Given the description of an element on the screen output the (x, y) to click on. 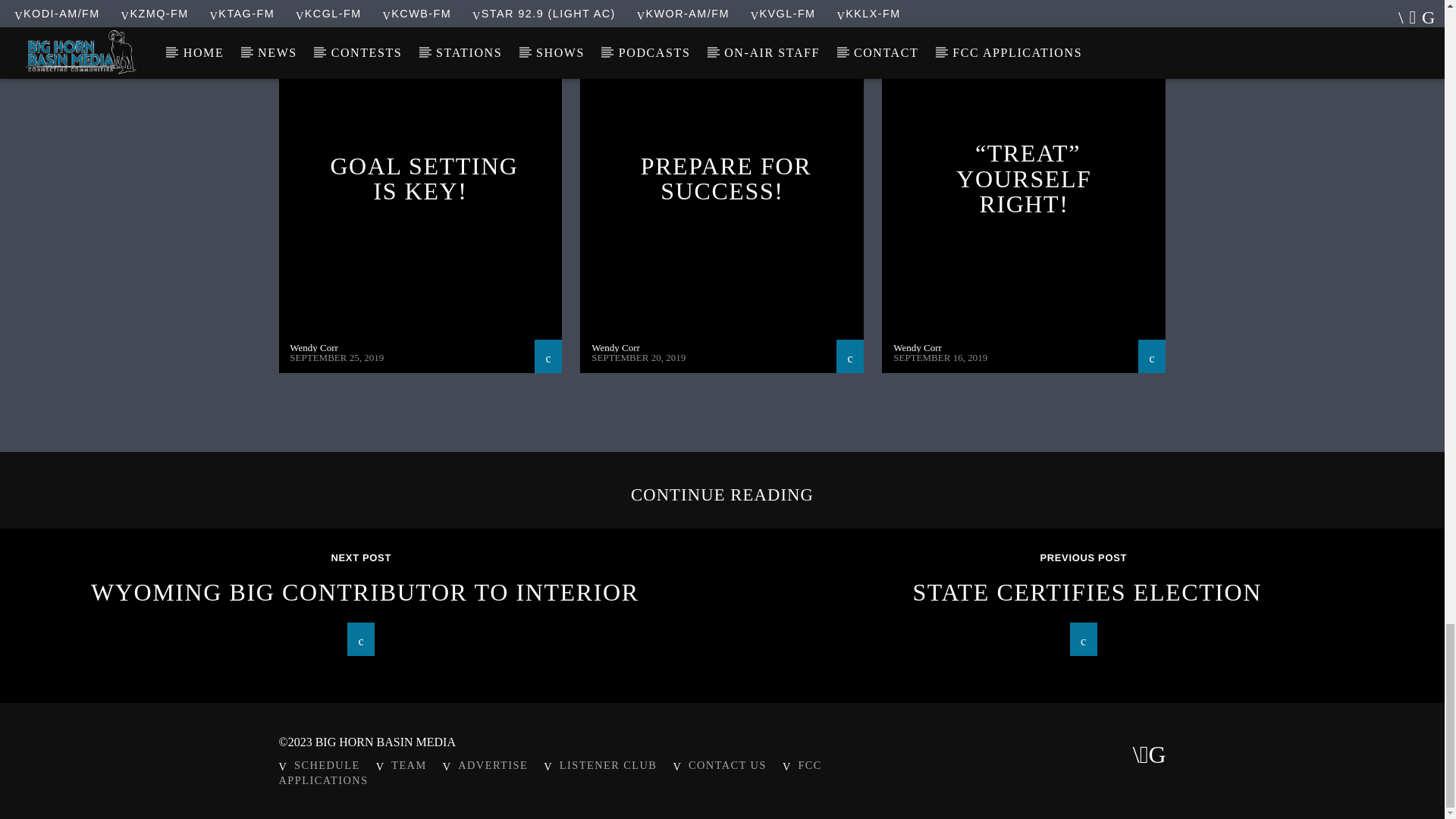
Posts by Wendy Corr (313, 347)
